Given the description of an element on the screen output the (x, y) to click on. 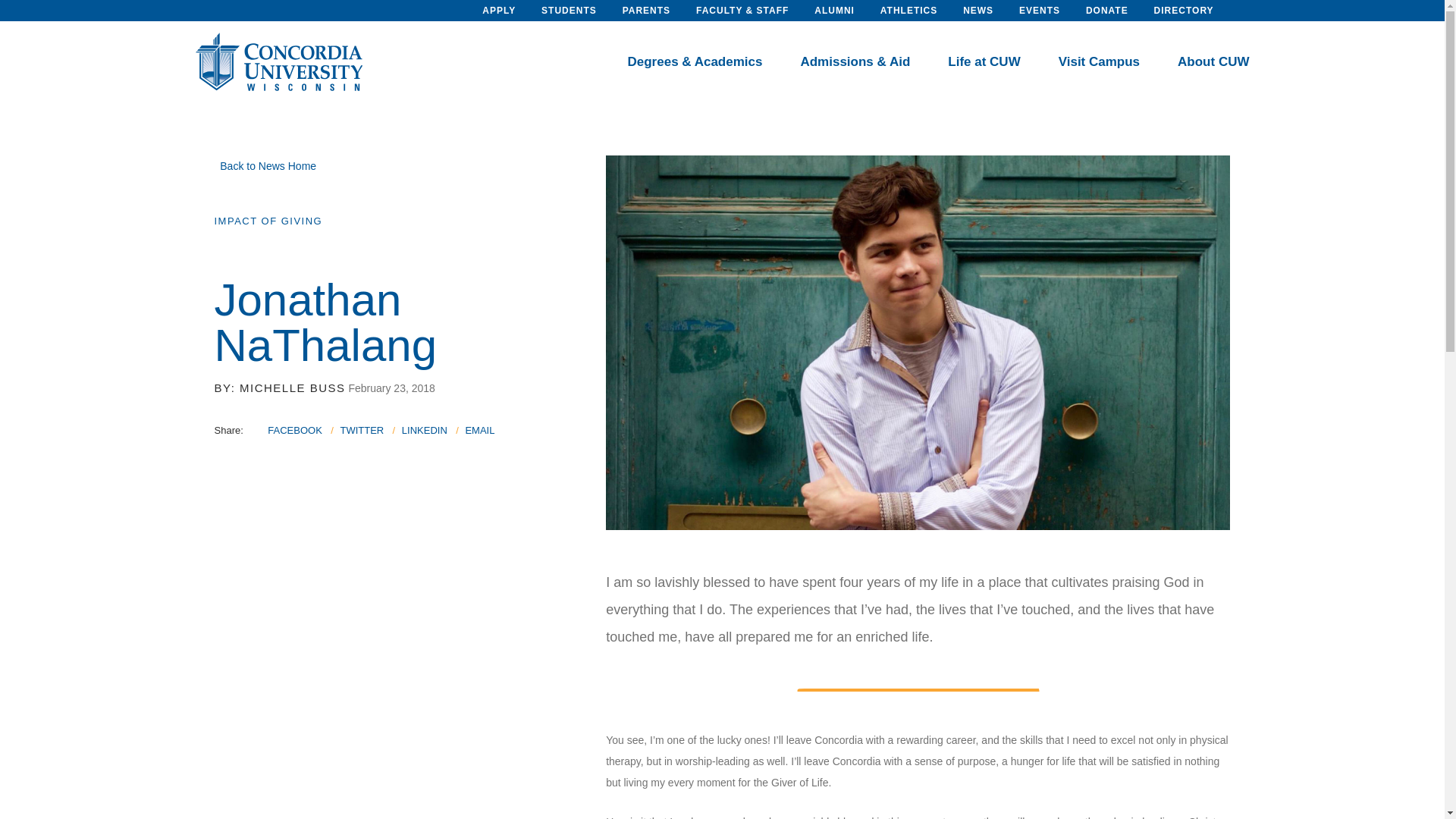
PARENTS (646, 10)
ATHLETICS (908, 10)
EMAIL (479, 430)
EVENTS (1039, 10)
APPLY (498, 10)
NEWS (977, 10)
Life at CUW (983, 61)
  Back to News Home (264, 165)
Visit Campus (1099, 61)
TWITTER (361, 430)
